Given the description of an element on the screen output the (x, y) to click on. 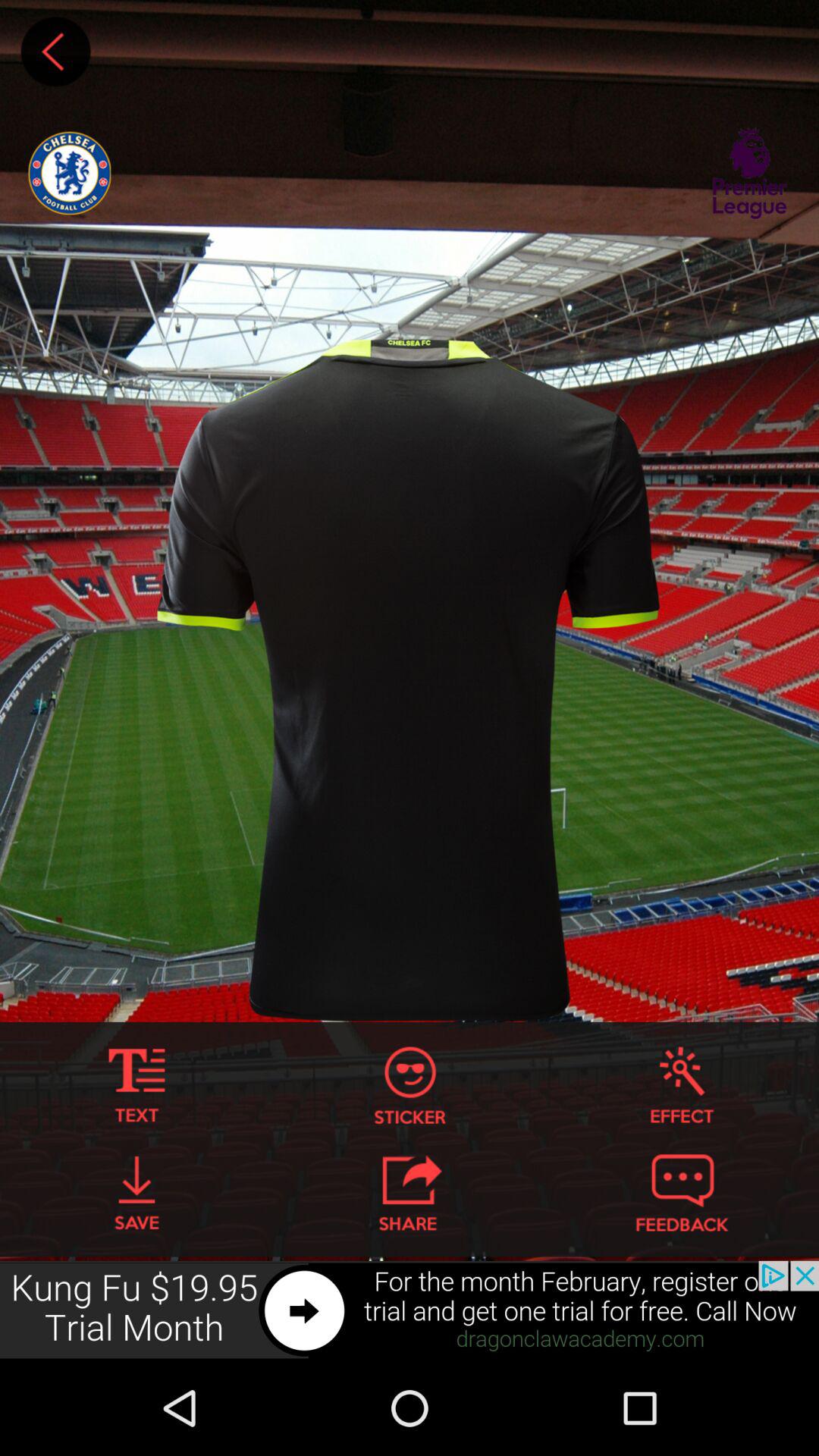
watch advertisement (409, 1310)
